Given the description of an element on the screen output the (x, y) to click on. 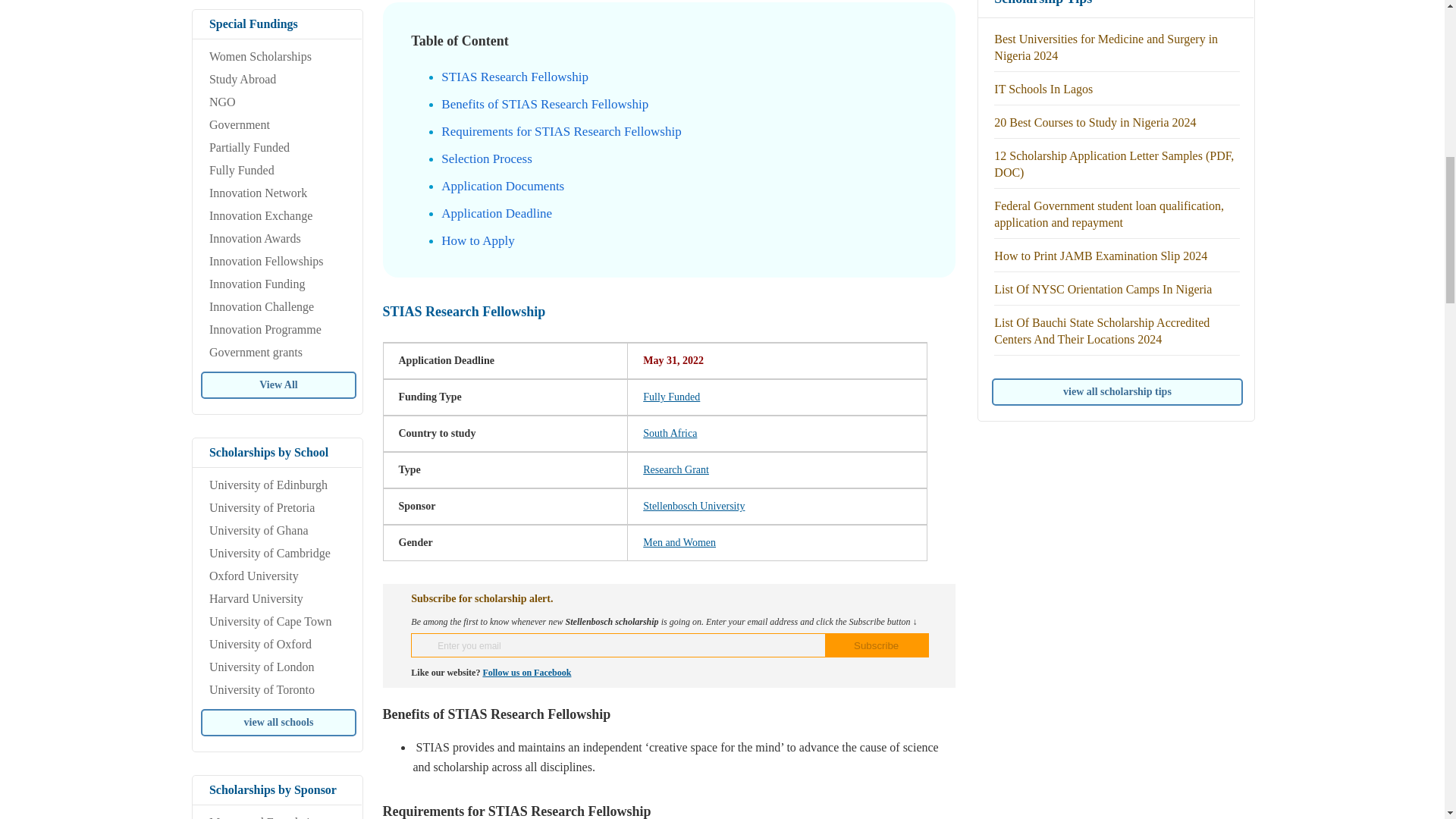
Research Grant (676, 469)
Application Documents (502, 186)
Fully Funded (671, 396)
Stellenbosch University (693, 505)
Research Grant Scholarships (676, 469)
Men and Women (679, 542)
Subscribe (876, 644)
Application Deadline (496, 213)
Subscribe (876, 644)
How to Apply (477, 240)
Follow us on Facebook (525, 672)
view all scholarship tips (1117, 391)
STIAS Research Fellowship (514, 76)
South Africa (670, 432)
Selection Process (486, 158)
